Given the description of an element on the screen output the (x, y) to click on. 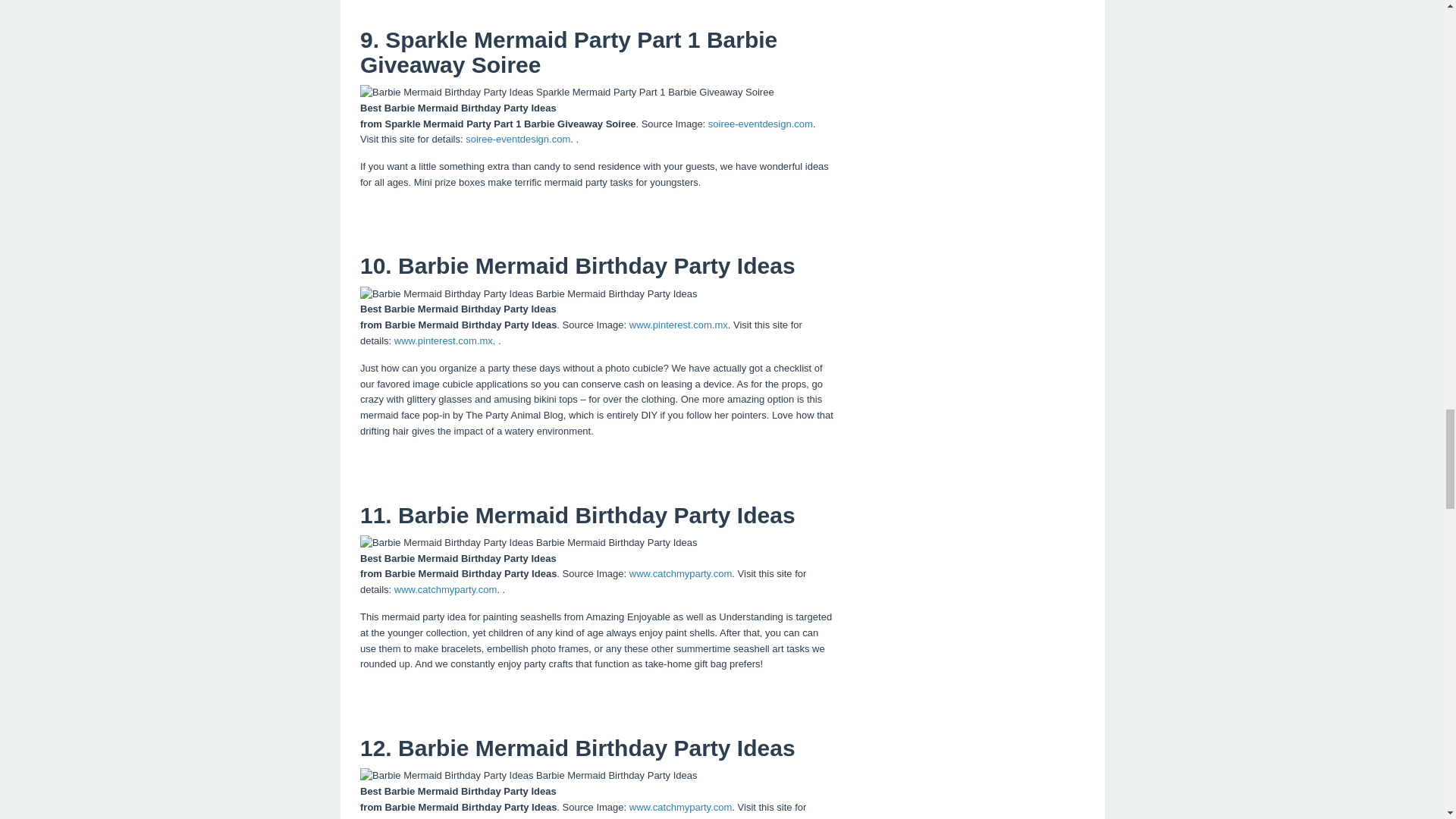
www.pinterest.com.mx (678, 324)
soiree-eventdesign.com (759, 123)
www.catchmyparty.com (445, 589)
www.pinterest.com.mx (443, 340)
soiree-eventdesign.com (517, 138)
www.catchmyparty.com (680, 573)
sparkle mermaid party part 1 (566, 92)
www.catchmyparty.com (680, 807)
www.catchmyparty.com (445, 817)
